Given the description of an element on the screen output the (x, y) to click on. 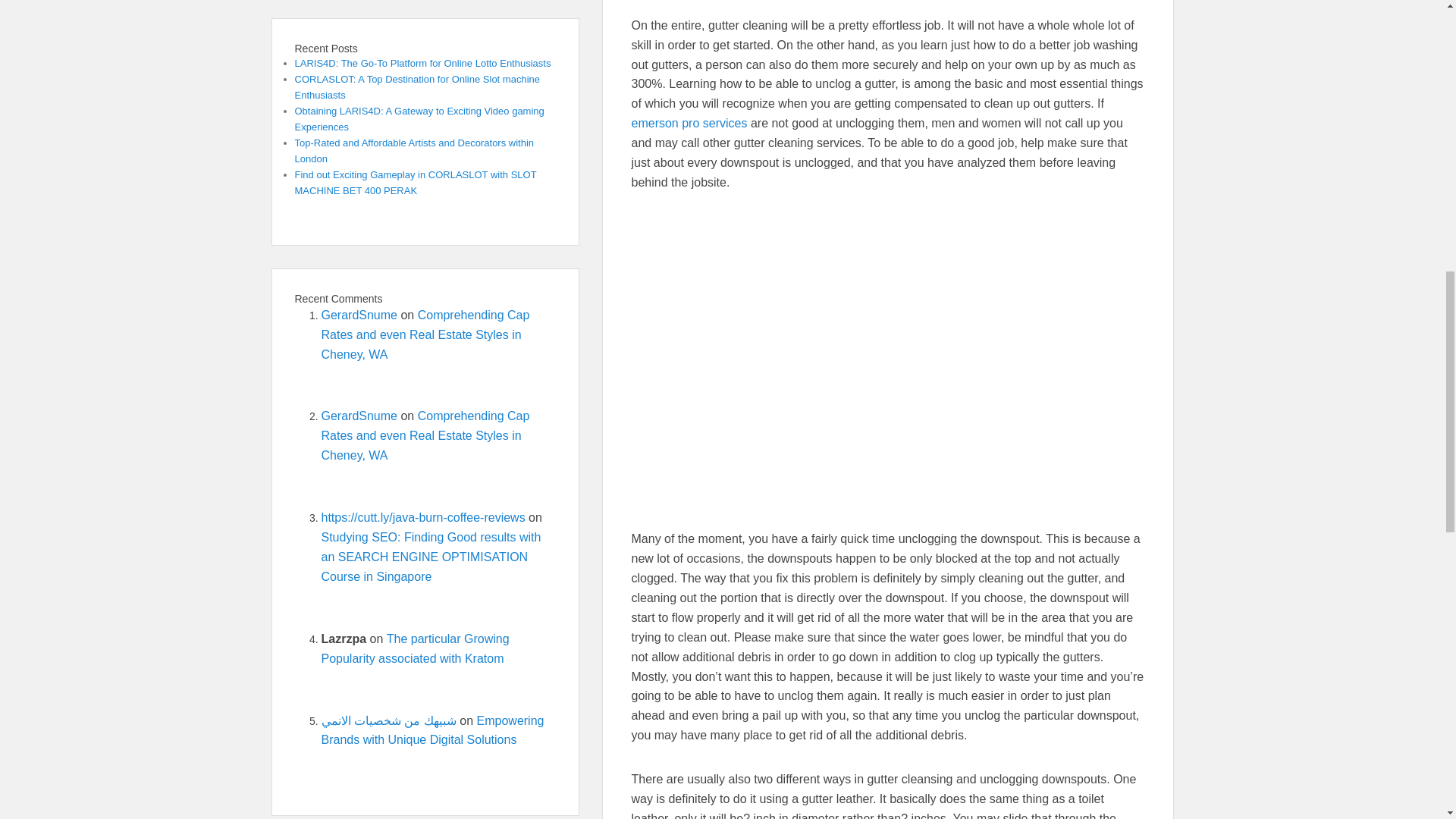
LARIS4D: The Go-To Platform for Online Lotto Enthusiasts (422, 62)
Empowering Brands with Unique Digital Solutions (432, 730)
The particular Growing Popularity associated with Kratom (415, 648)
GerardSnume (359, 415)
emerson pro services (688, 123)
